Given the description of an element on the screen output the (x, y) to click on. 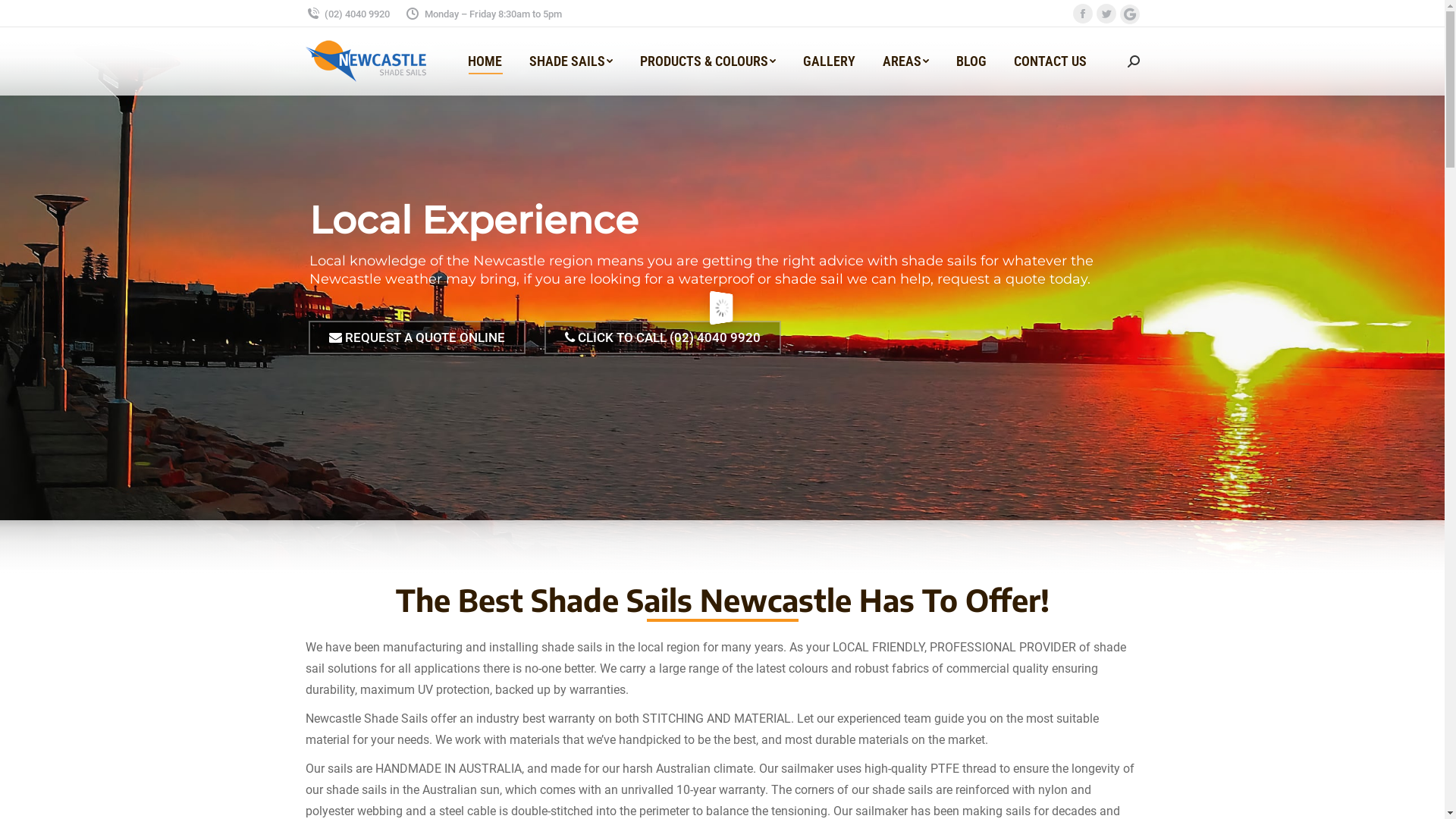
Twitter page opens in new window Element type: text (1106, 12)
GALLERY Element type: text (828, 60)
BLOG Element type: text (970, 60)
CONTACT US Element type: text (1049, 60)
Facebook page opens in new window Element type: text (1082, 12)
SHADE SAILS Element type: text (570, 60)
REQUEST A QUOTE ONLINE Element type: text (415, 337)
HOME Element type: text (484, 60)
CLICK TO CALL (02) 4040 9920 Element type: text (662, 337)
AREAS Element type: text (905, 60)
Local Experience Element type: text (473, 220)
(02) 4040 9920 Element type: text (346, 13)
Google page opens in new window Element type: text (1129, 14)
Go! Element type: text (23, 15)
PRODUCTS & COLOURS Element type: text (707, 60)
